Given the description of an element on the screen output the (x, y) to click on. 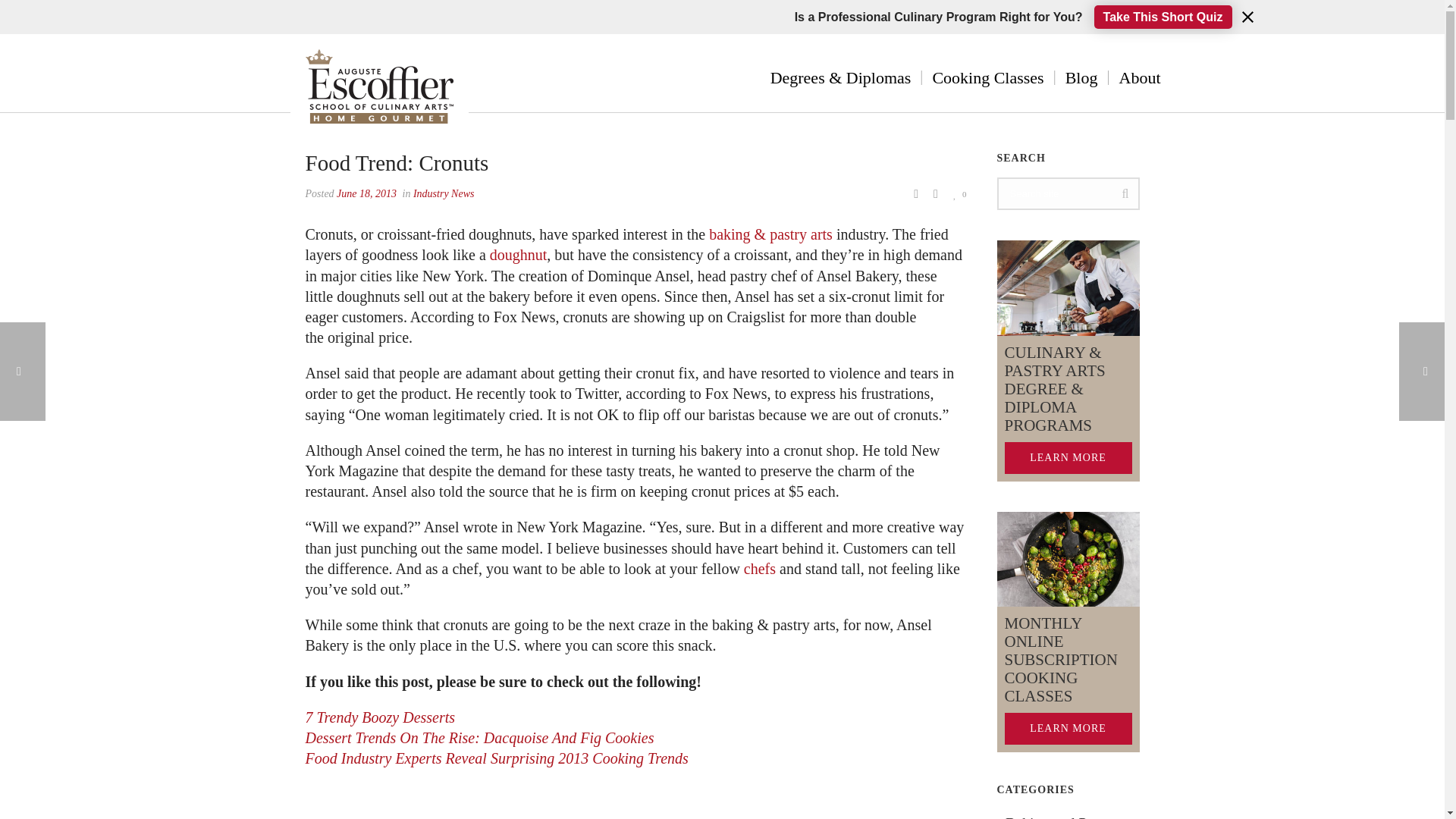
Dessert Trends On The Rise: Dacquoise And Fig Cookies (478, 737)
7 Trendy Boozy Desserts (379, 717)
Blog (1081, 78)
Food Industry Experts Reveal Surprising 2013 Cooking Trends (495, 758)
  0 (959, 192)
Blog (1081, 78)
Is a Professional Culinary Program Right for You? (938, 25)
chefs (760, 568)
Print (916, 192)
LEARN MORE (1067, 728)
About (1139, 78)
About (1139, 78)
Donuts (340, 817)
Cooking Classes (987, 78)
June 18, 2013 (366, 193)
